Given the description of an element on the screen output the (x, y) to click on. 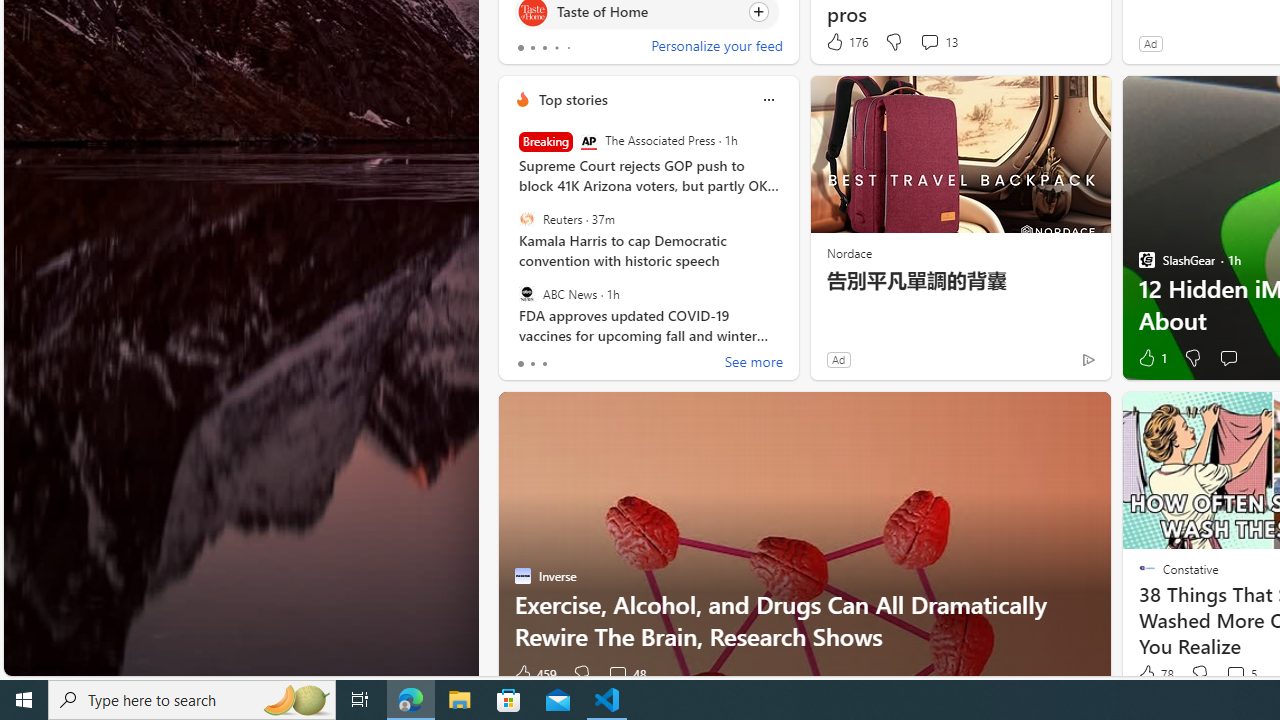
View comments 5 Comment (1234, 673)
Reuters (526, 219)
tab-0 (520, 363)
1 Like (1151, 358)
Top stories (572, 99)
View comments 13 Comment (938, 42)
176 Like (845, 42)
tab-2 (543, 363)
tab-3 (556, 47)
View comments 5 Comment (1240, 674)
